Given the description of an element on the screen output the (x, y) to click on. 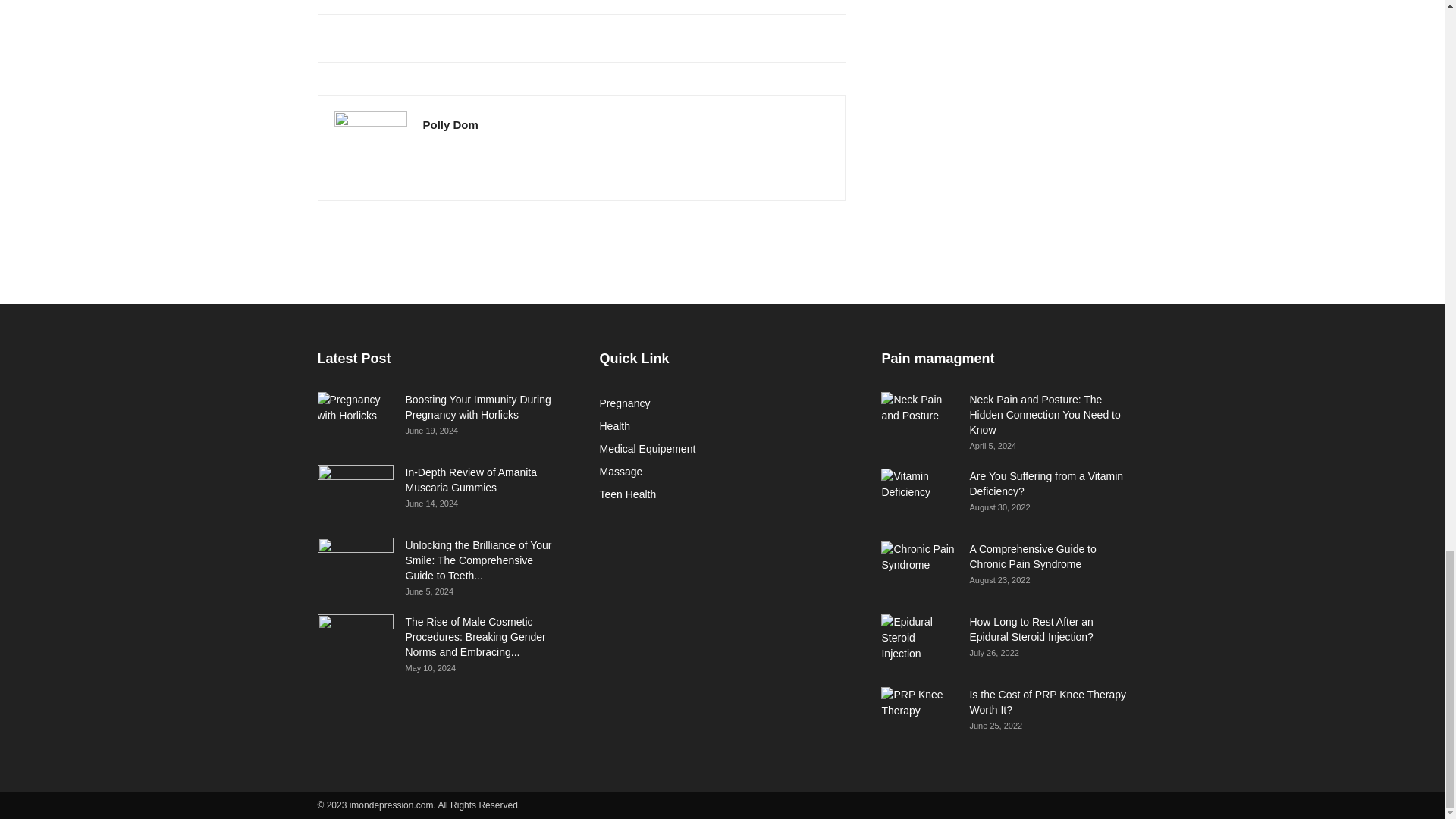
Polly Dom (451, 124)
